Given the description of an element on the screen output the (x, y) to click on. 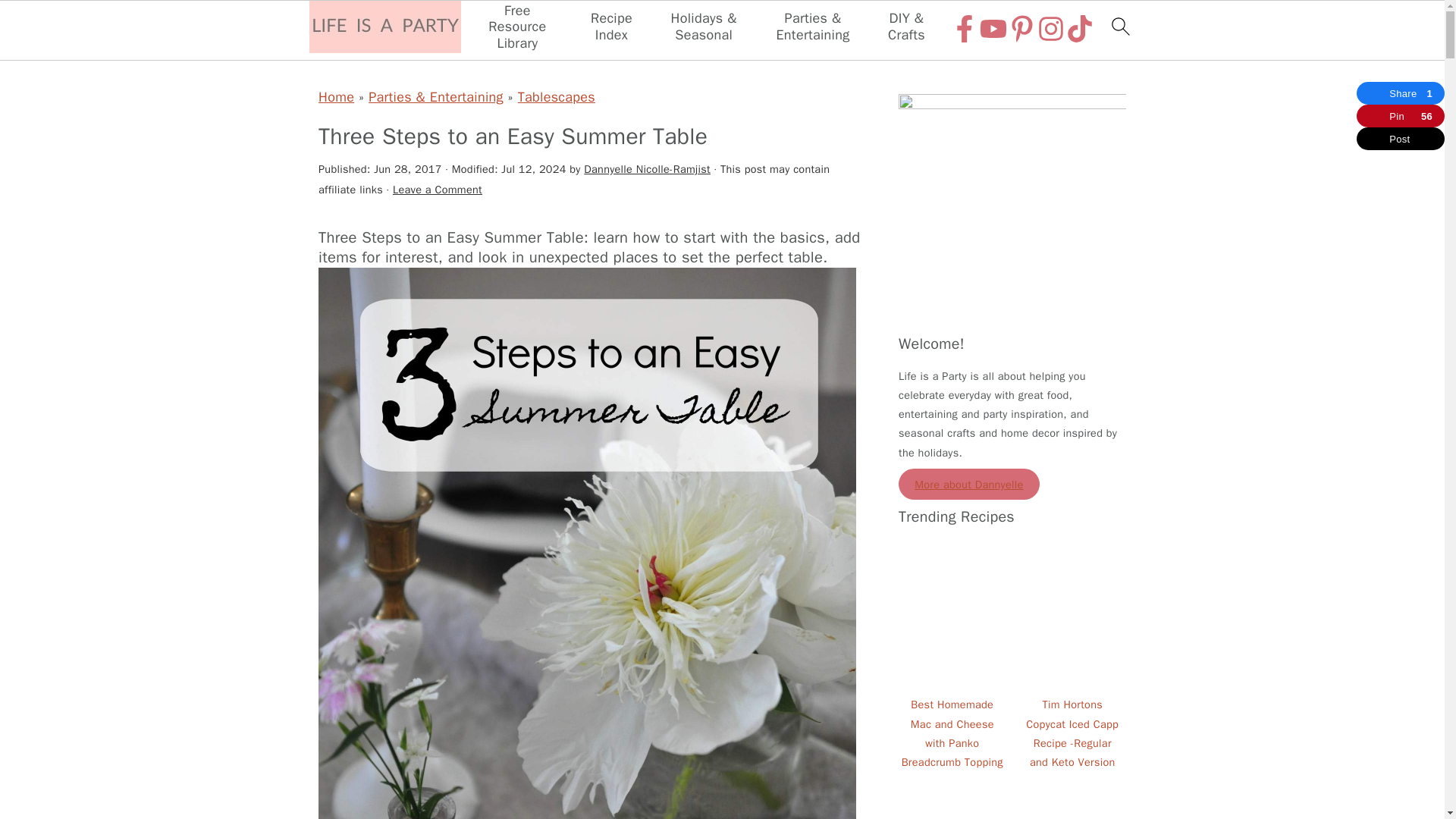
search icon (1119, 30)
Free Resource Library (517, 27)
Recipe Index (611, 26)
search icon (1119, 26)
Home (335, 96)
